Given the description of an element on the screen output the (x, y) to click on. 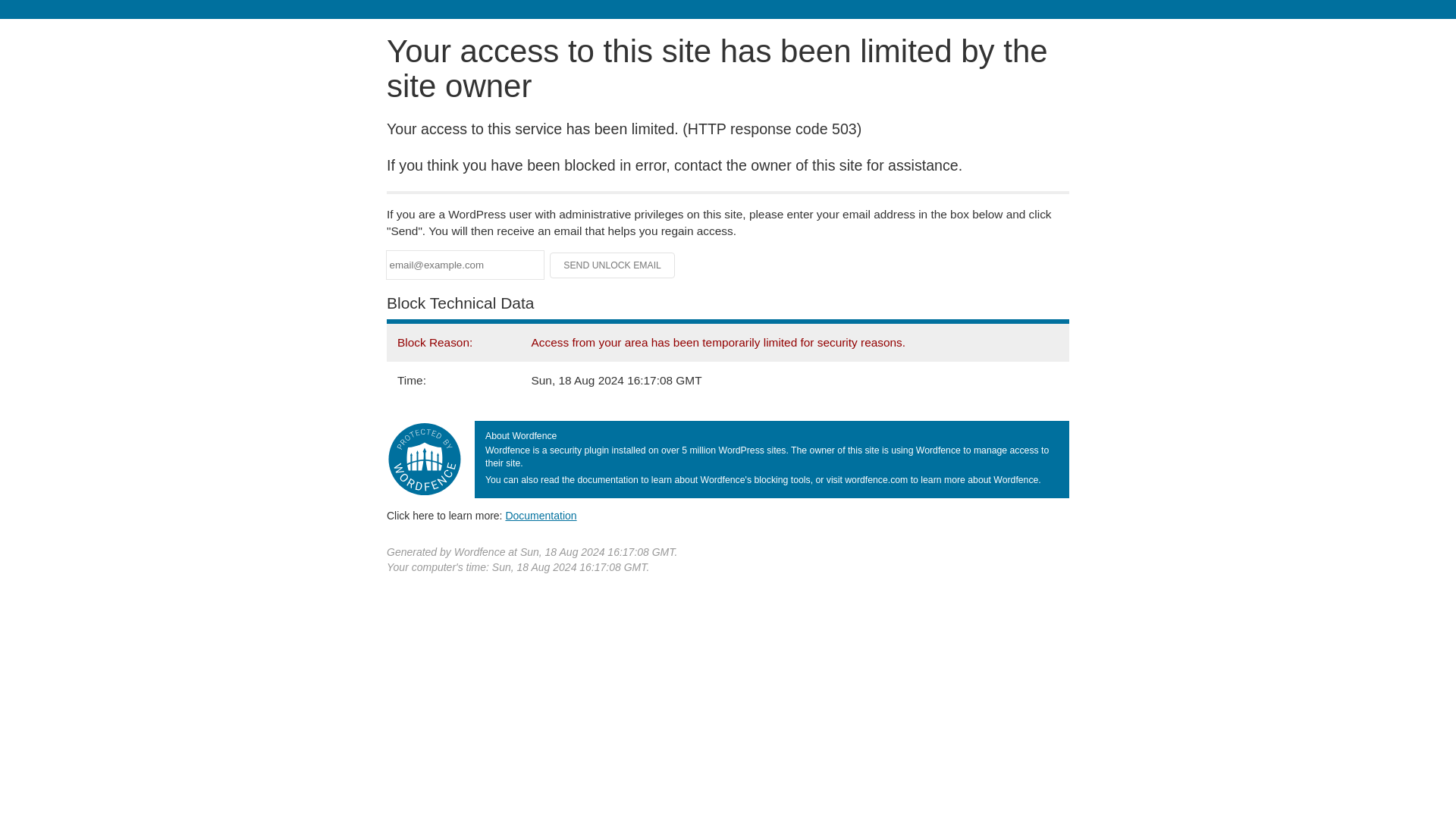
Documentation (540, 515)
Send Unlock Email (612, 265)
Send Unlock Email (612, 265)
